Given the description of an element on the screen output the (x, y) to click on. 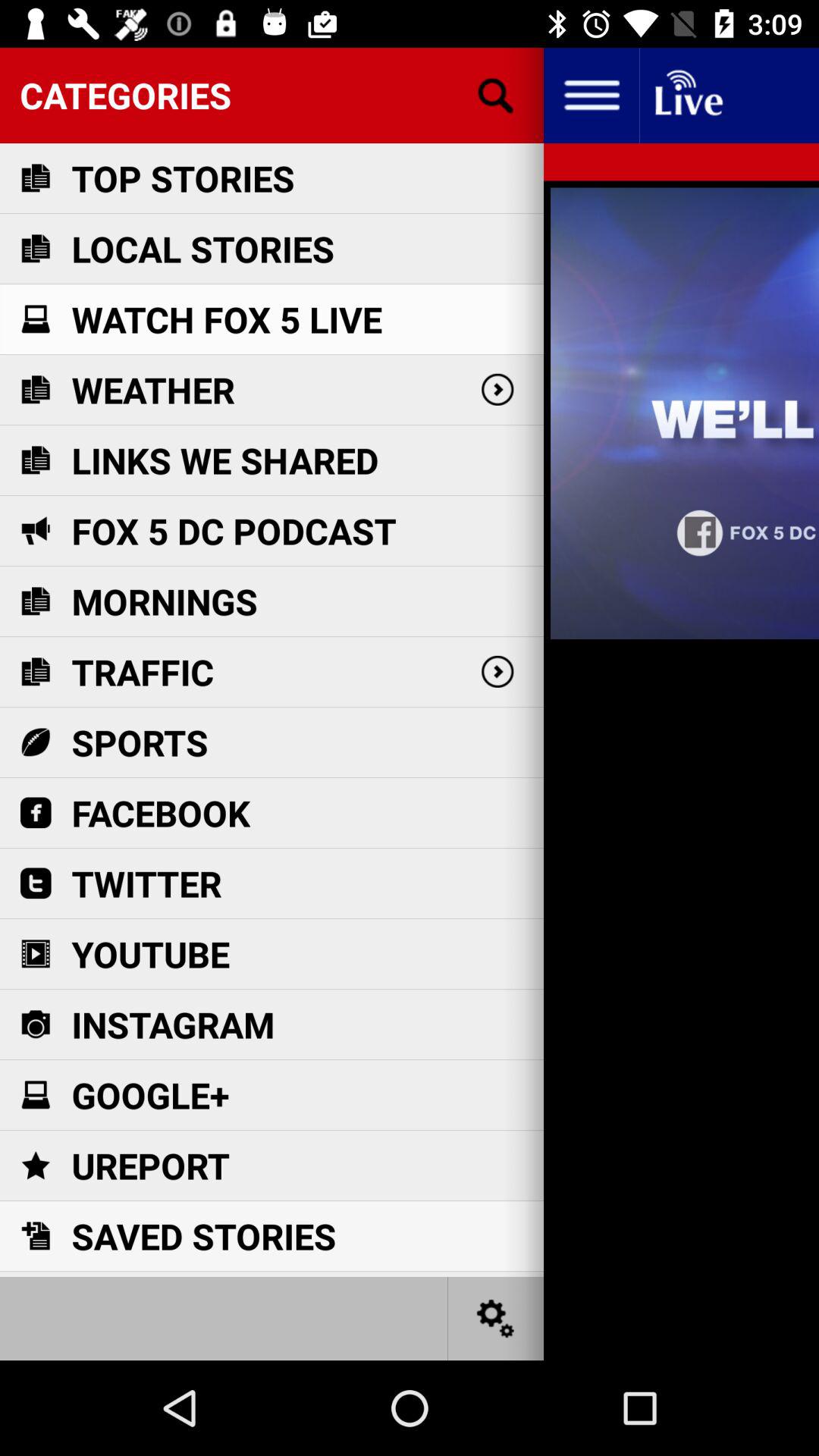
turn on weather icon (152, 389)
